Given the description of an element on the screen output the (x, y) to click on. 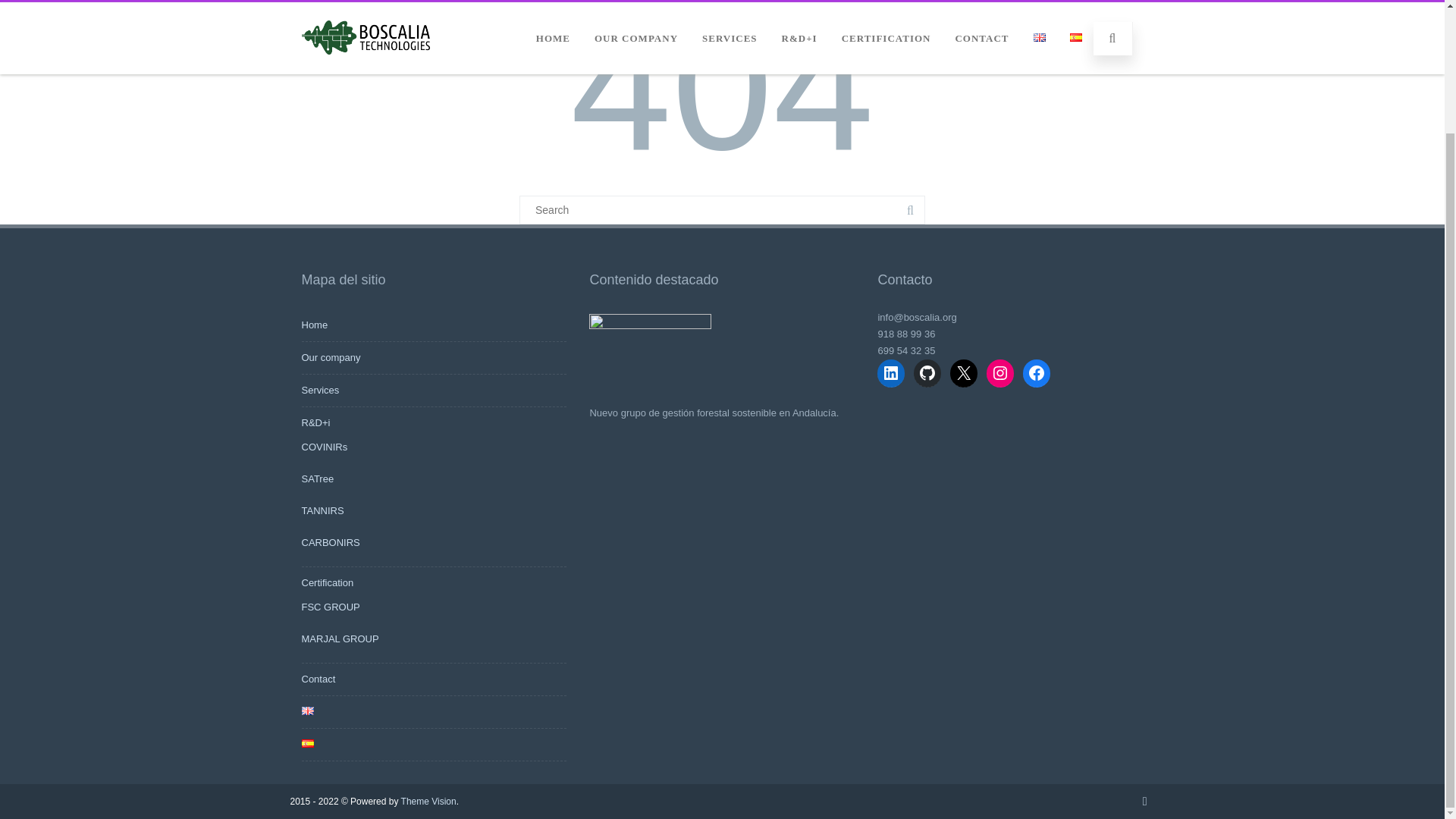
Home (315, 324)
COVINIRs (324, 446)
Our company (331, 357)
TANNIRS (322, 510)
Services (320, 389)
SATree (317, 478)
Search for: (721, 209)
